Given the description of an element on the screen output the (x, y) to click on. 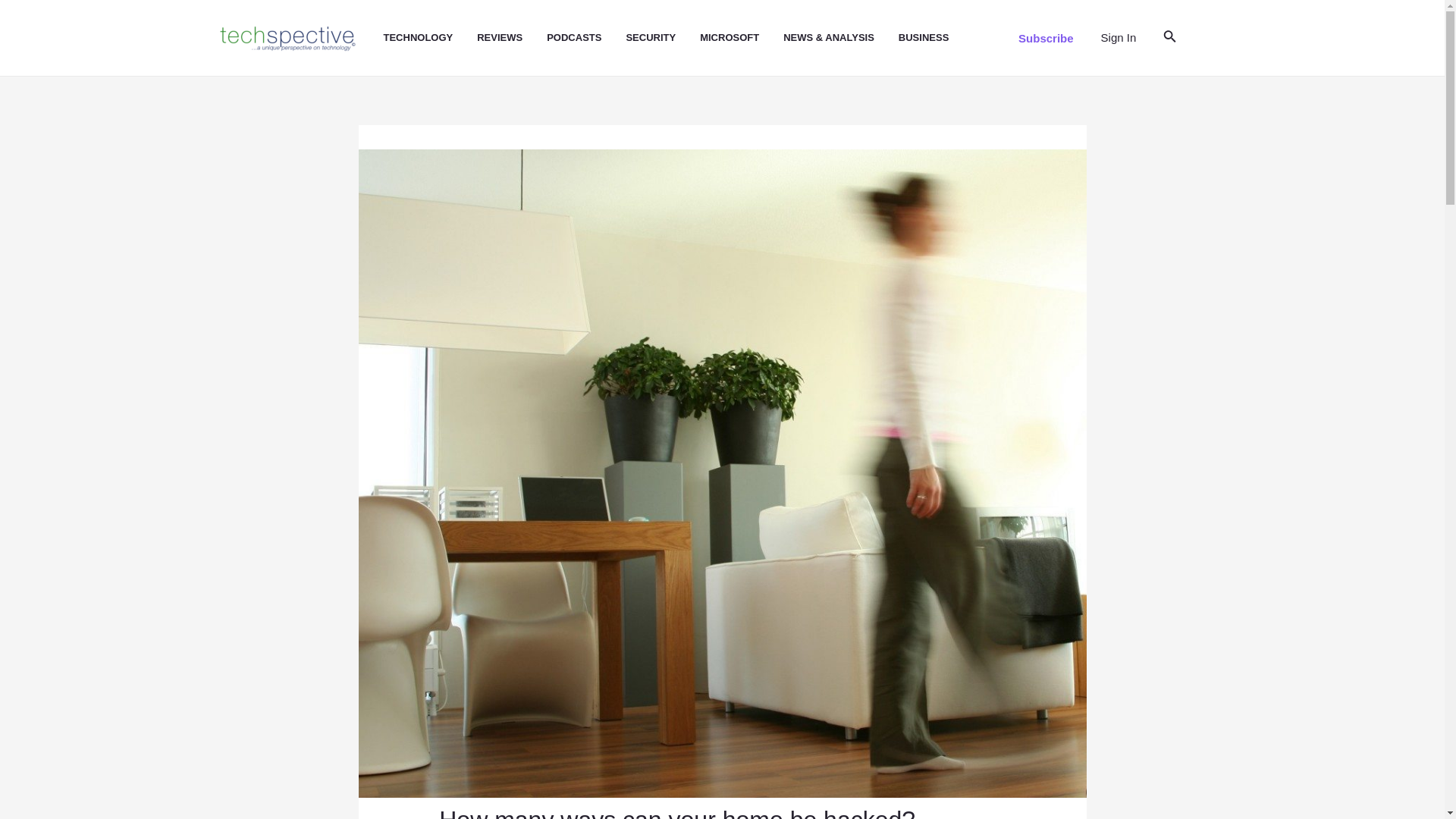
REVIEWS (512, 38)
TECHNOLOGY (430, 38)
Sign In (1118, 37)
BUSINESS (935, 38)
SECURITY (663, 38)
PODCASTS (586, 38)
MICROSOFT (741, 38)
Subscribe (1045, 37)
